Given the description of an element on the screen output the (x, y) to click on. 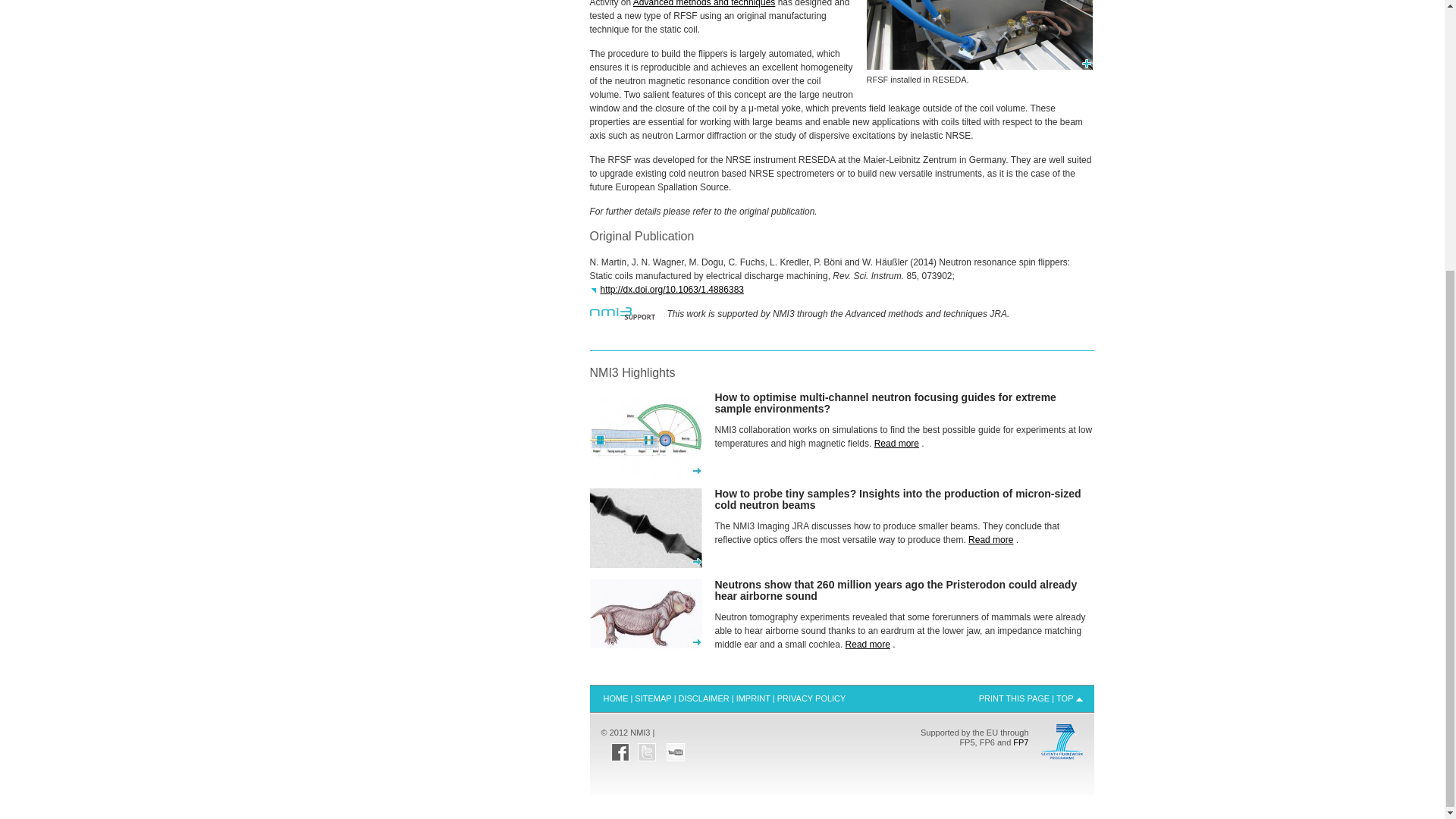
NMI3 support (622, 316)
Youtube (675, 747)
task 4 (645, 528)
Sitemap (651, 697)
IN5 (645, 434)
IN5 (645, 475)
Home (614, 697)
Facebook (619, 747)
Twitter (646, 747)
task 4 (645, 566)
